Given the description of an element on the screen output the (x, y) to click on. 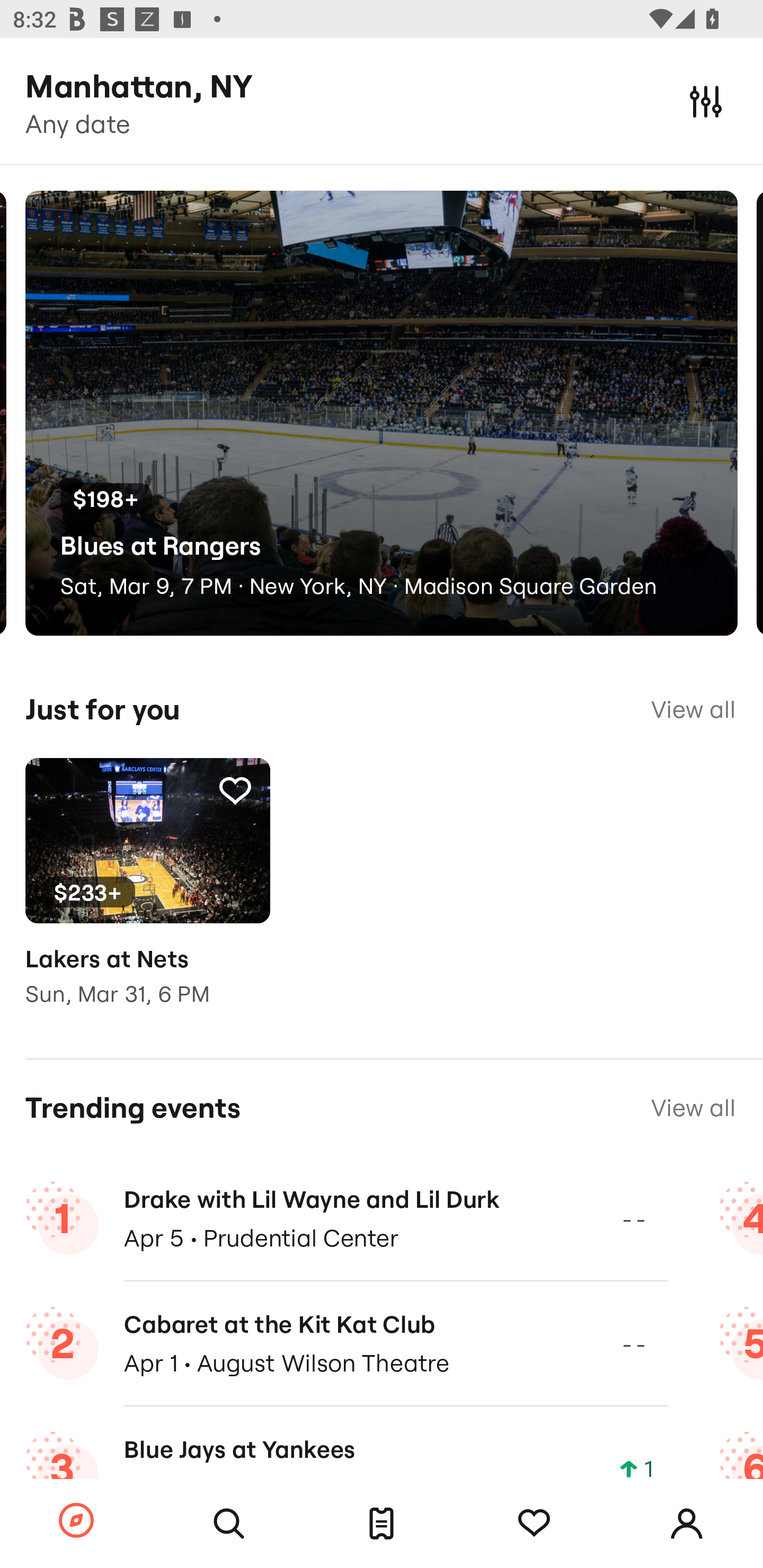
Filters (705, 100)
View all (693, 709)
Tracking $233+ Lakers at Nets Sun, Mar 31, 6 PM (147, 895)
Tracking (234, 790)
View all (693, 1108)
Browse (76, 1521)
Search (228, 1523)
Tickets (381, 1523)
Tracking (533, 1523)
Account (686, 1523)
